Given the description of an element on the screen output the (x, y) to click on. 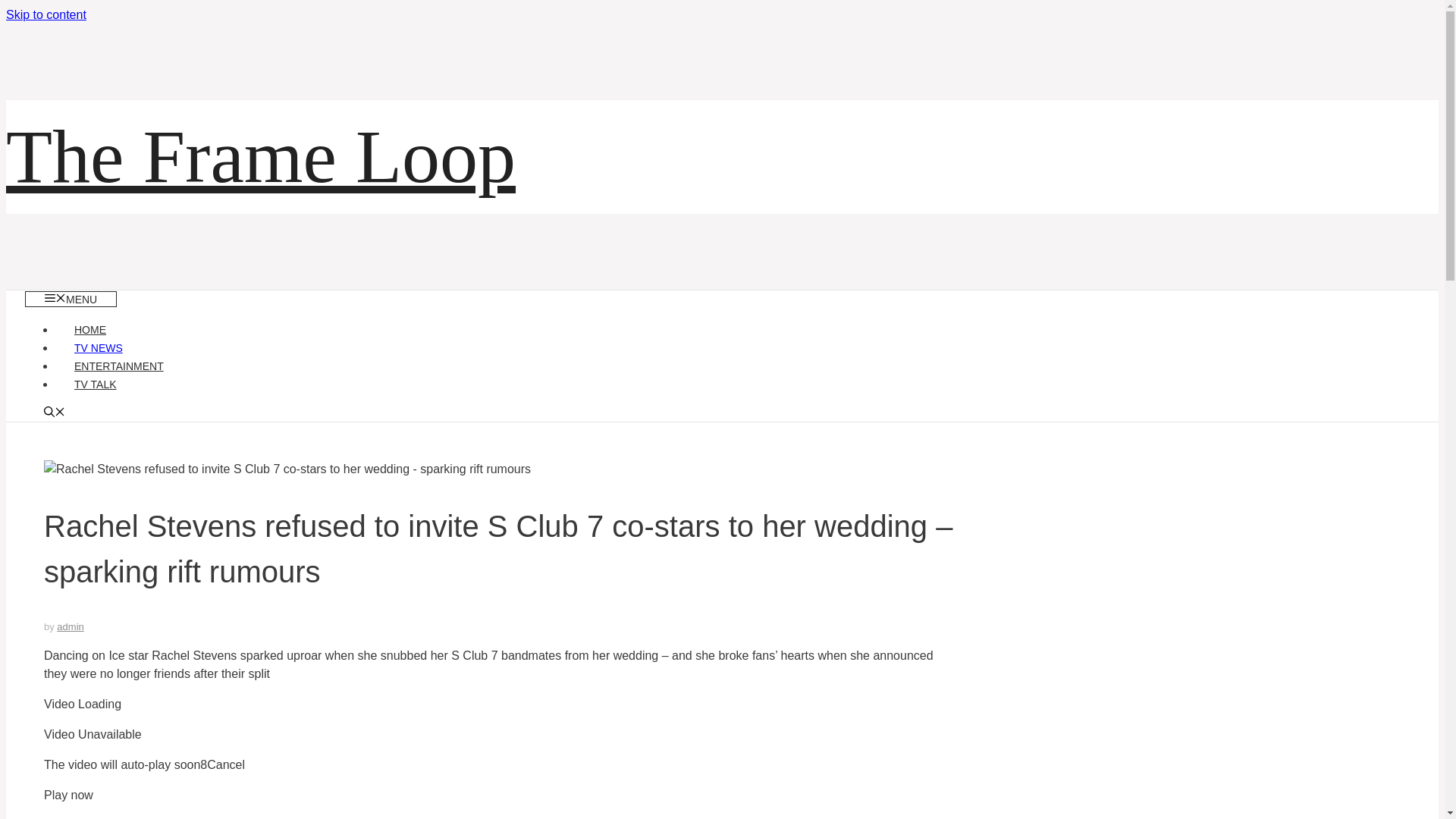
View all posts by admin (69, 626)
admin (69, 626)
HOME (90, 329)
TV TALK (95, 384)
ENTERTAINMENT (119, 366)
Skip to content (45, 14)
TV NEWS (98, 347)
MENU (70, 299)
The Frame Loop (260, 156)
Skip to content (45, 14)
